Given the description of an element on the screen output the (x, y) to click on. 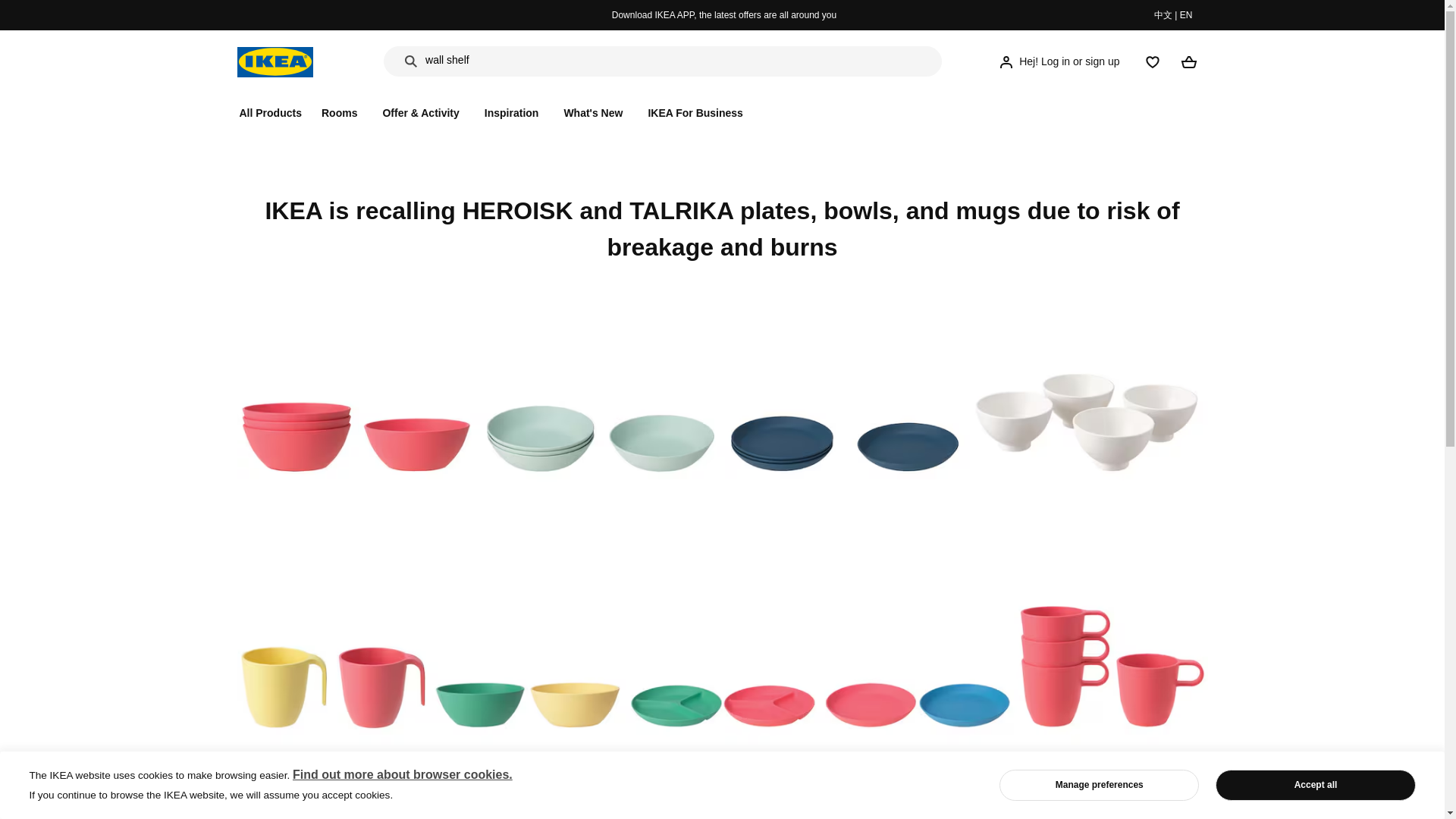
Download IKEA APP, the latest offers are all around you (723, 15)
soft toy (442, 83)
wall shelf (446, 61)
